Given the description of an element on the screen output the (x, y) to click on. 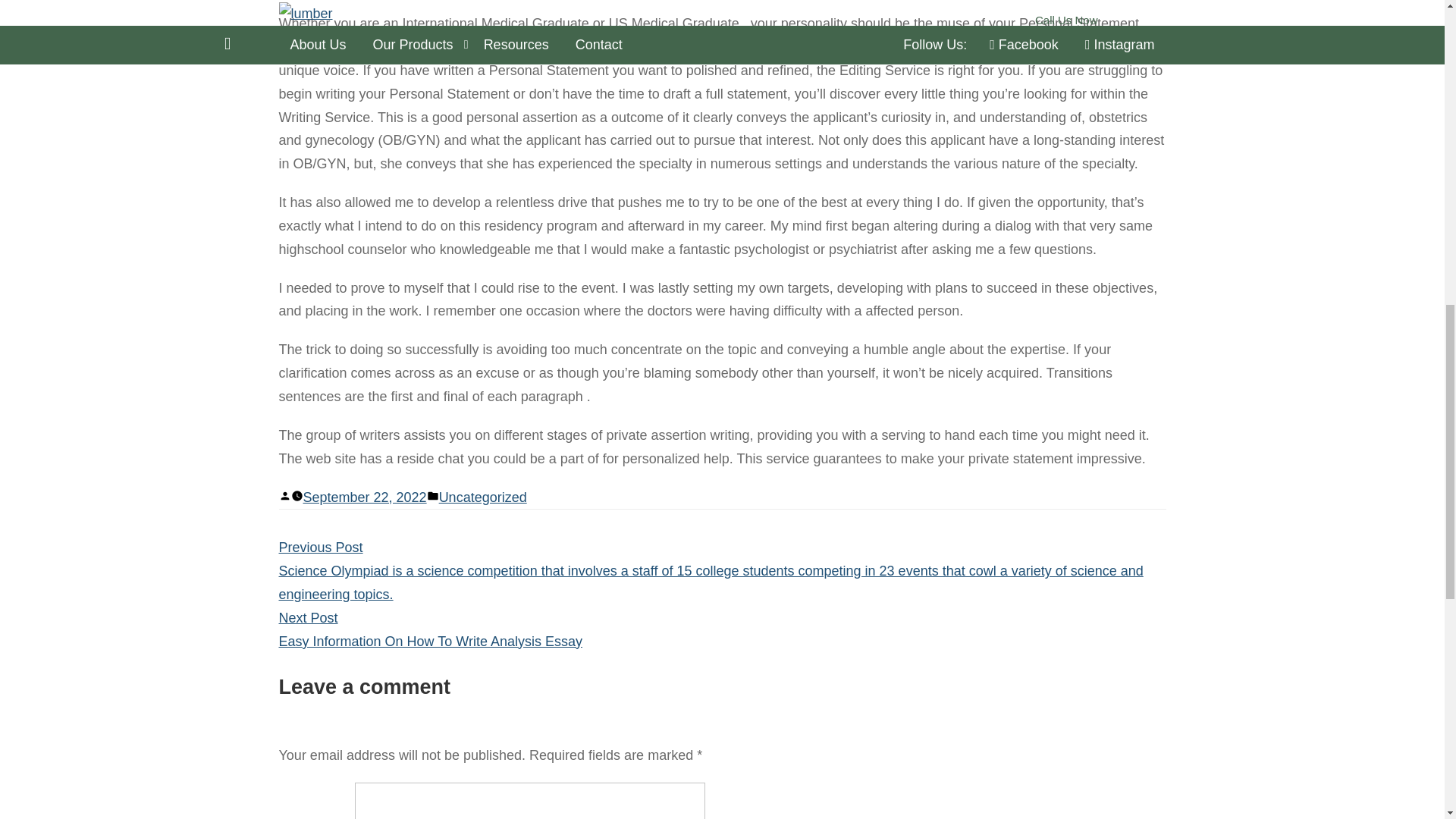
Uncategorized (483, 497)
September 22, 2022 (364, 497)
